Given the description of an element on the screen output the (x, y) to click on. 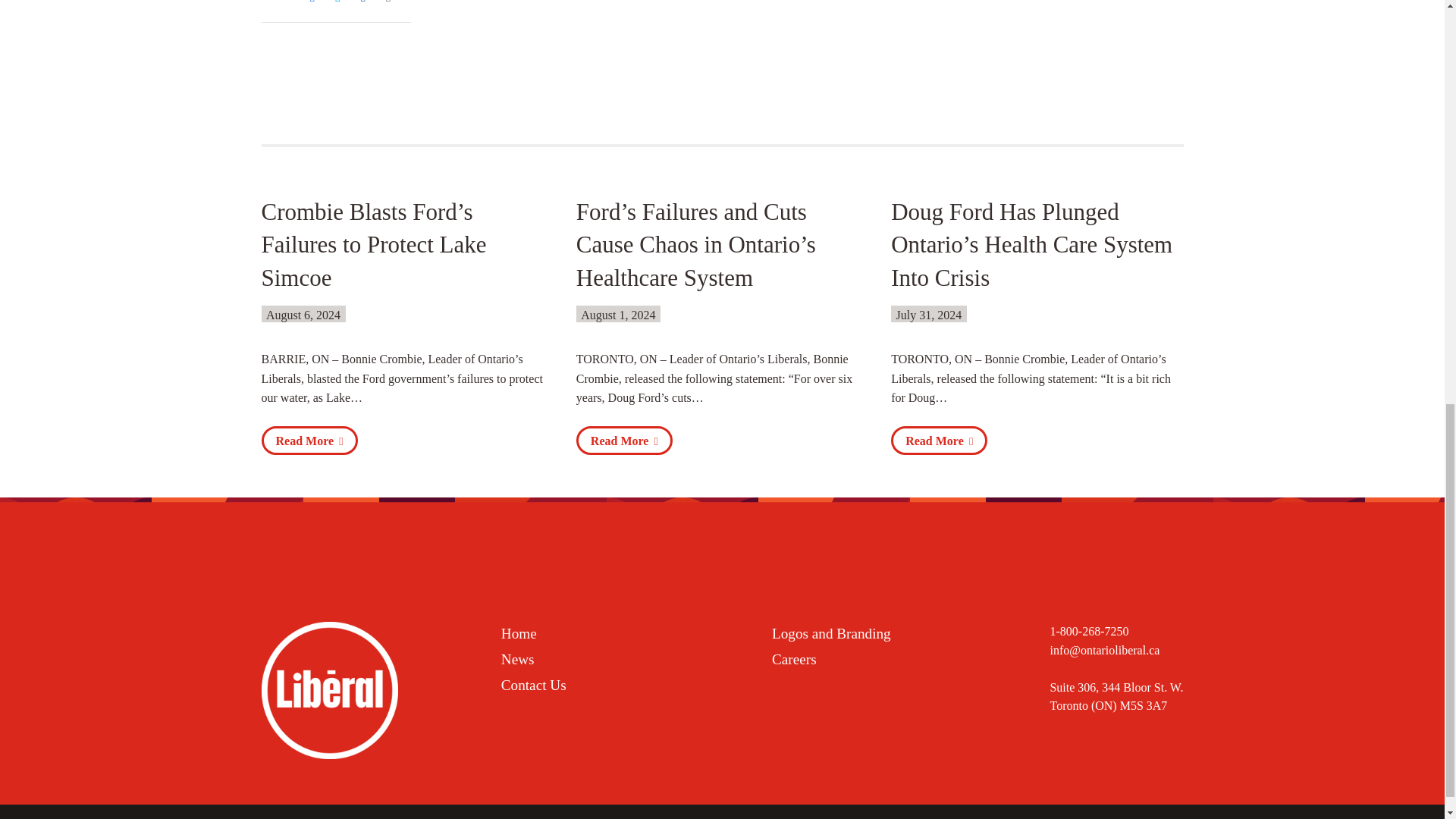
Share on Twitter (340, 2)
Share on LinkedIn (365, 2)
Send by email (391, 2)
Share on Facebook (314, 2)
